Given the description of an element on the screen output the (x, y) to click on. 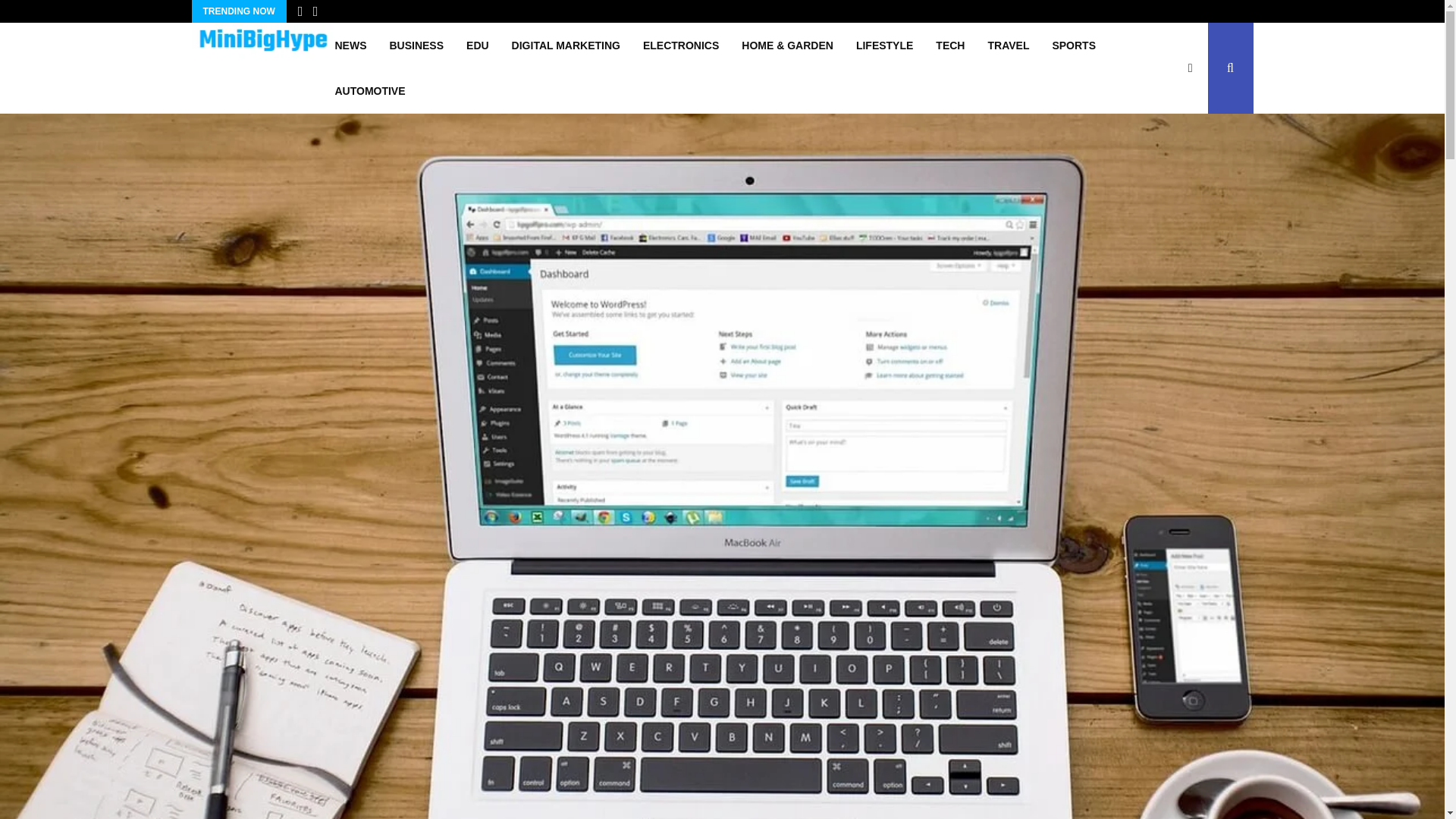
SPORTS (1073, 44)
TRAVEL (1008, 44)
ELECTRONICS (681, 44)
DIGITAL MARKETING (566, 44)
LIFESTYLE (884, 44)
BUSINESS (416, 44)
AUTOMOTIVE (369, 90)
